Given the description of an element on the screen output the (x, y) to click on. 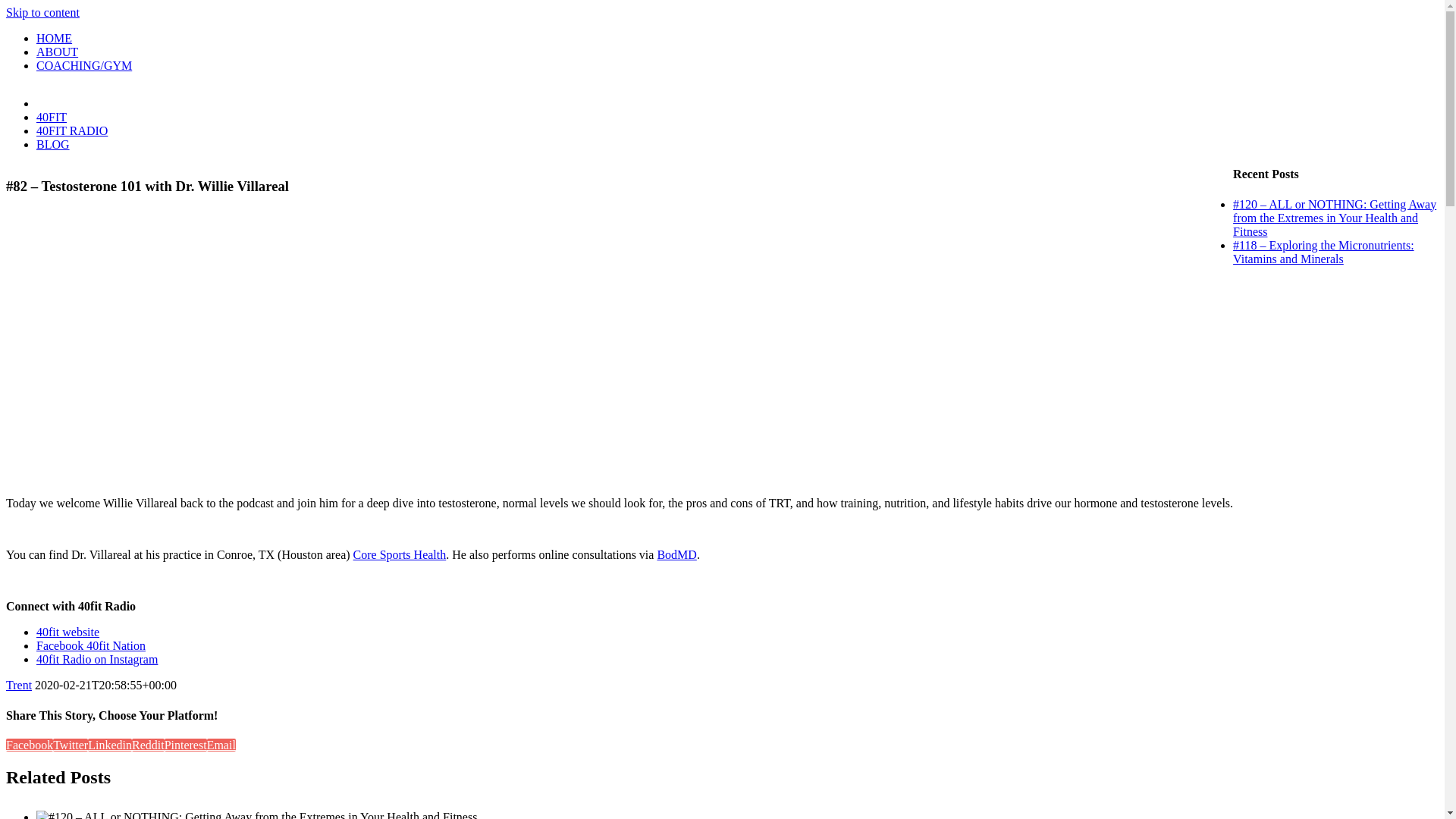
40fit website Element type: text (67, 631)
BodMD Element type: text (676, 554)
40FIT RADIO Element type: text (71, 130)
Pinterest Element type: text (185, 744)
COACHING/GYM Element type: text (83, 65)
BLOG Element type: text (52, 144)
Email Element type: text (221, 744)
Core Sports Health Element type: text (399, 554)
Facebook Element type: text (29, 744)
HOME Element type: text (54, 37)
ABOUT Element type: text (57, 51)
Reddit Element type: text (147, 744)
Linkedin Element type: text (109, 744)
Trent Element type: text (18, 684)
Skip to content Element type: text (42, 12)
40FIT Element type: text (51, 116)
Facebook 40fit Nation Element type: text (90, 645)
Twitter Element type: text (70, 744)
40fit Radio on Instagram Element type: text (96, 658)
